Given the description of an element on the screen output the (x, y) to click on. 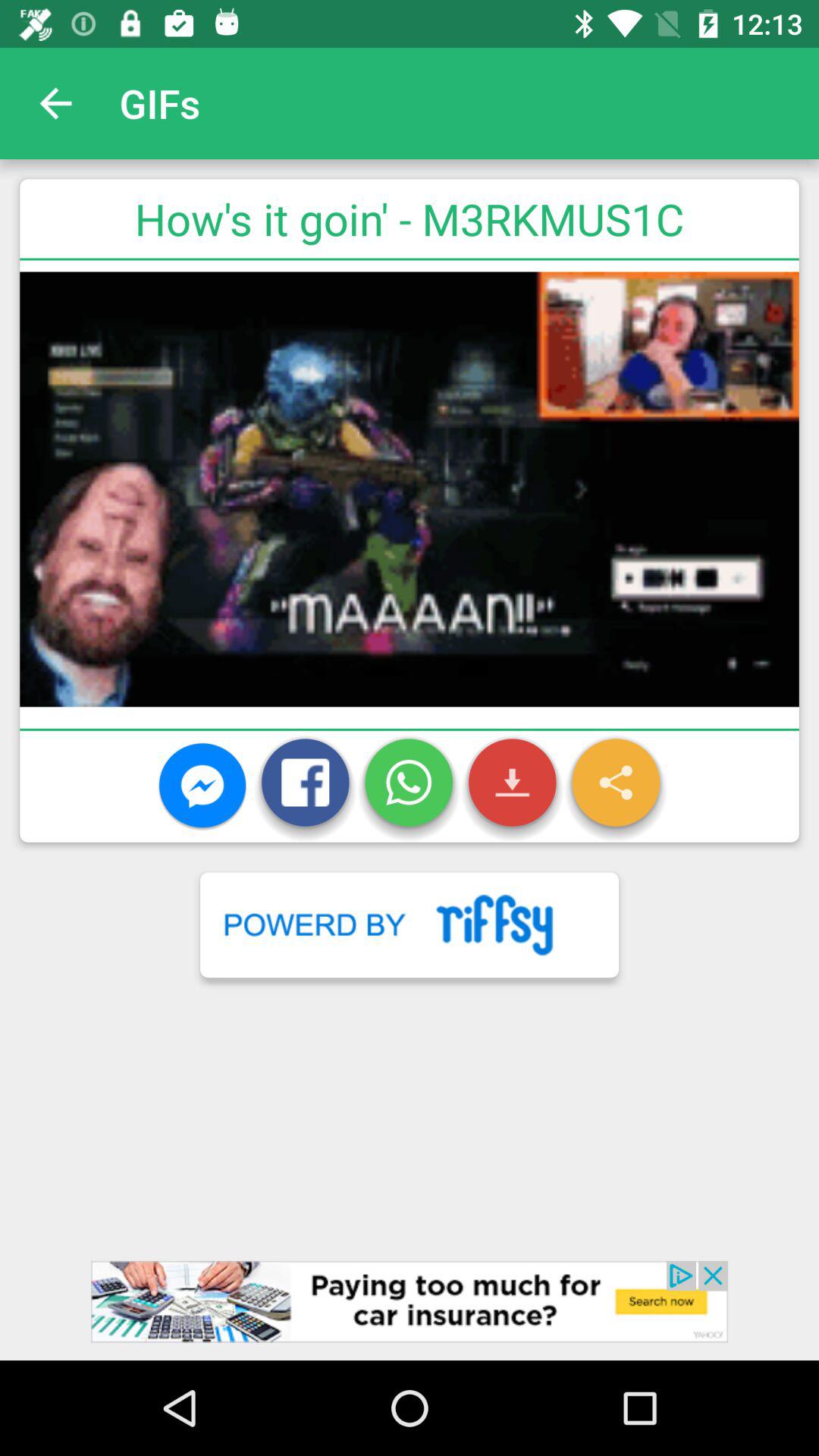
select the advertisement (409, 1310)
